Given the description of an element on the screen output the (x, y) to click on. 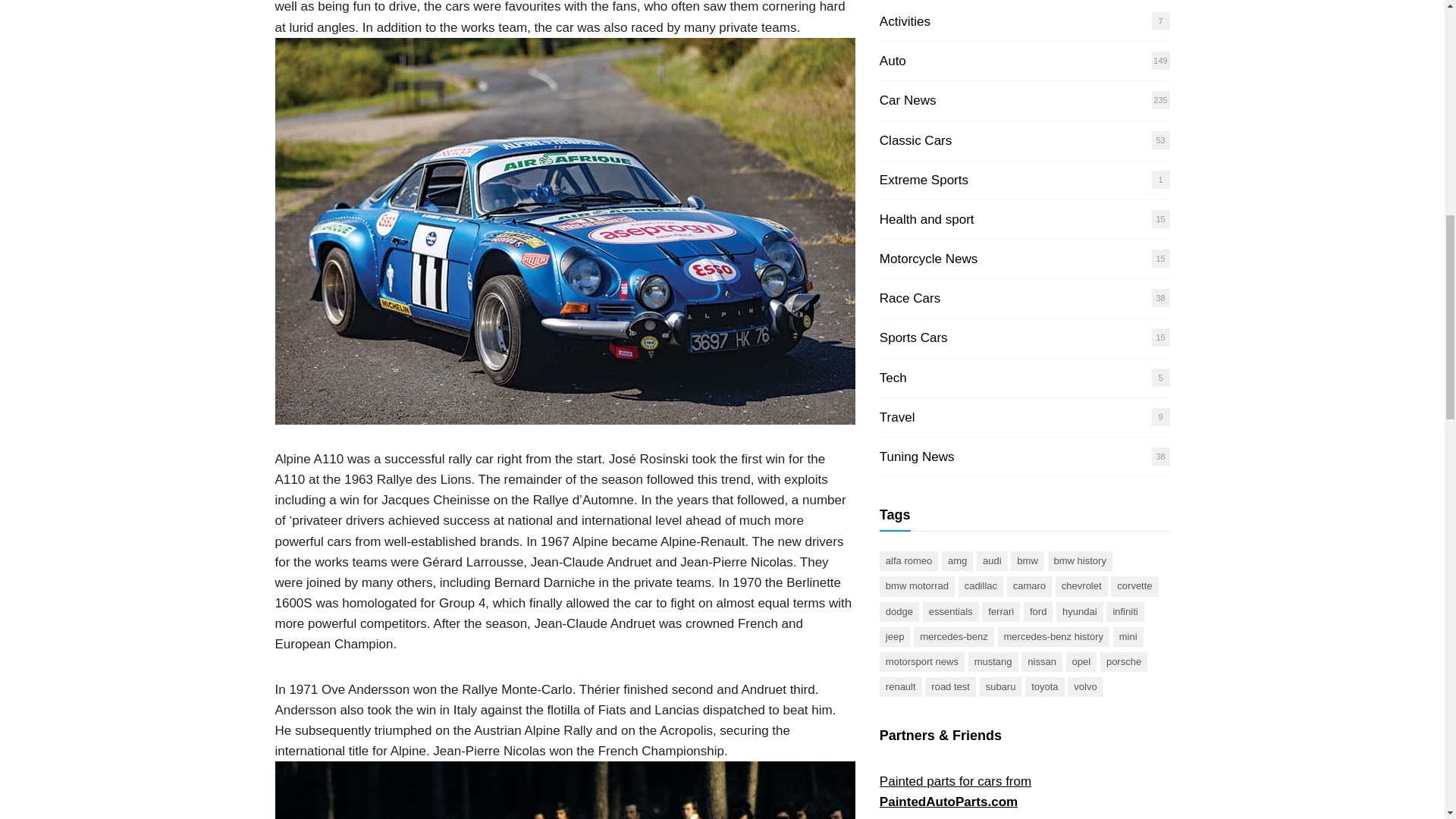
Car News (907, 100)
Classic Cars (915, 140)
Extreme Sports (923, 179)
Activities (904, 21)
Health and sport (926, 219)
Auto (892, 60)
